Given the description of an element on the screen output the (x, y) to click on. 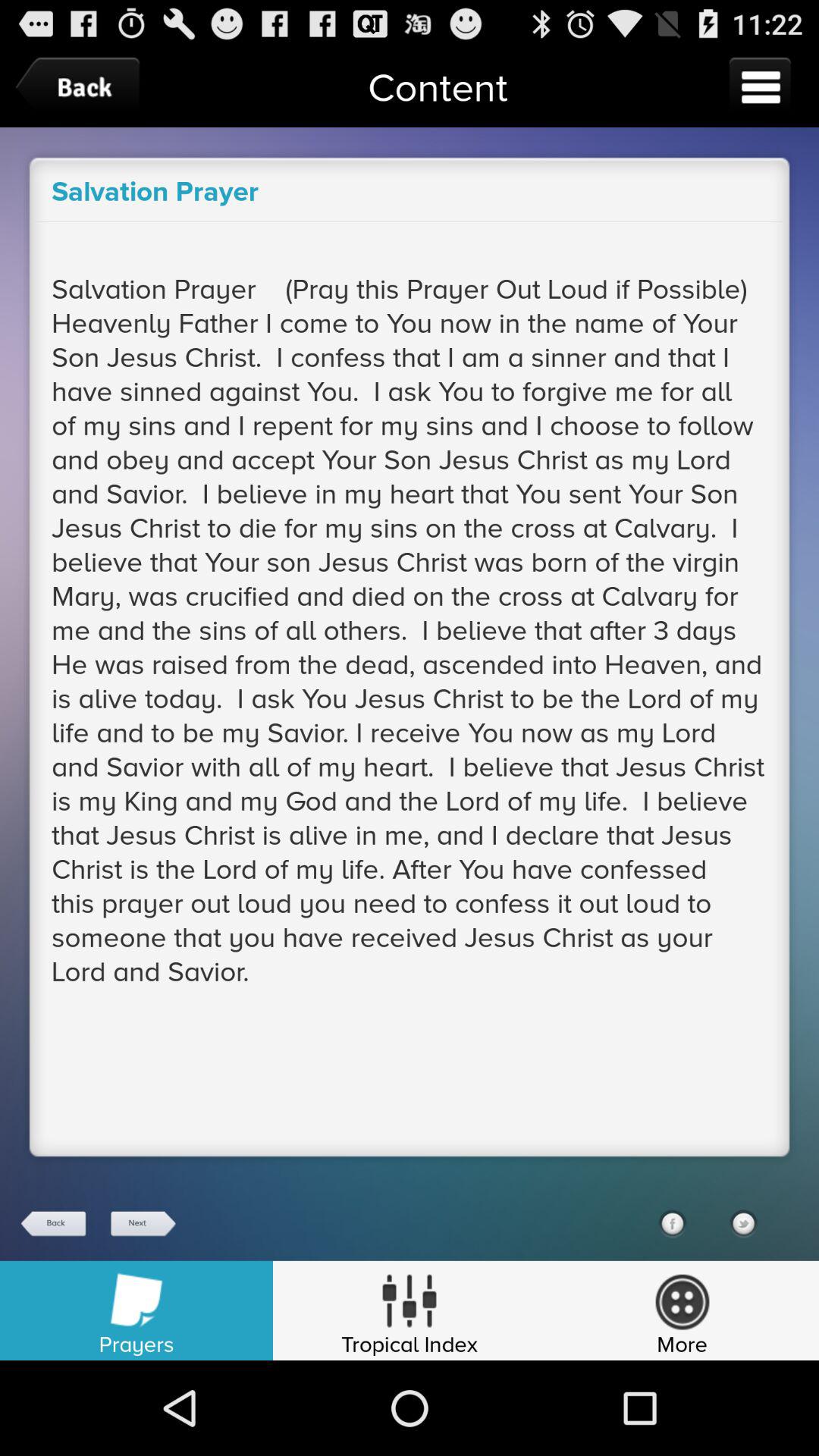
tap item next to content icon (81, 87)
